Given the description of an element on the screen output the (x, y) to click on. 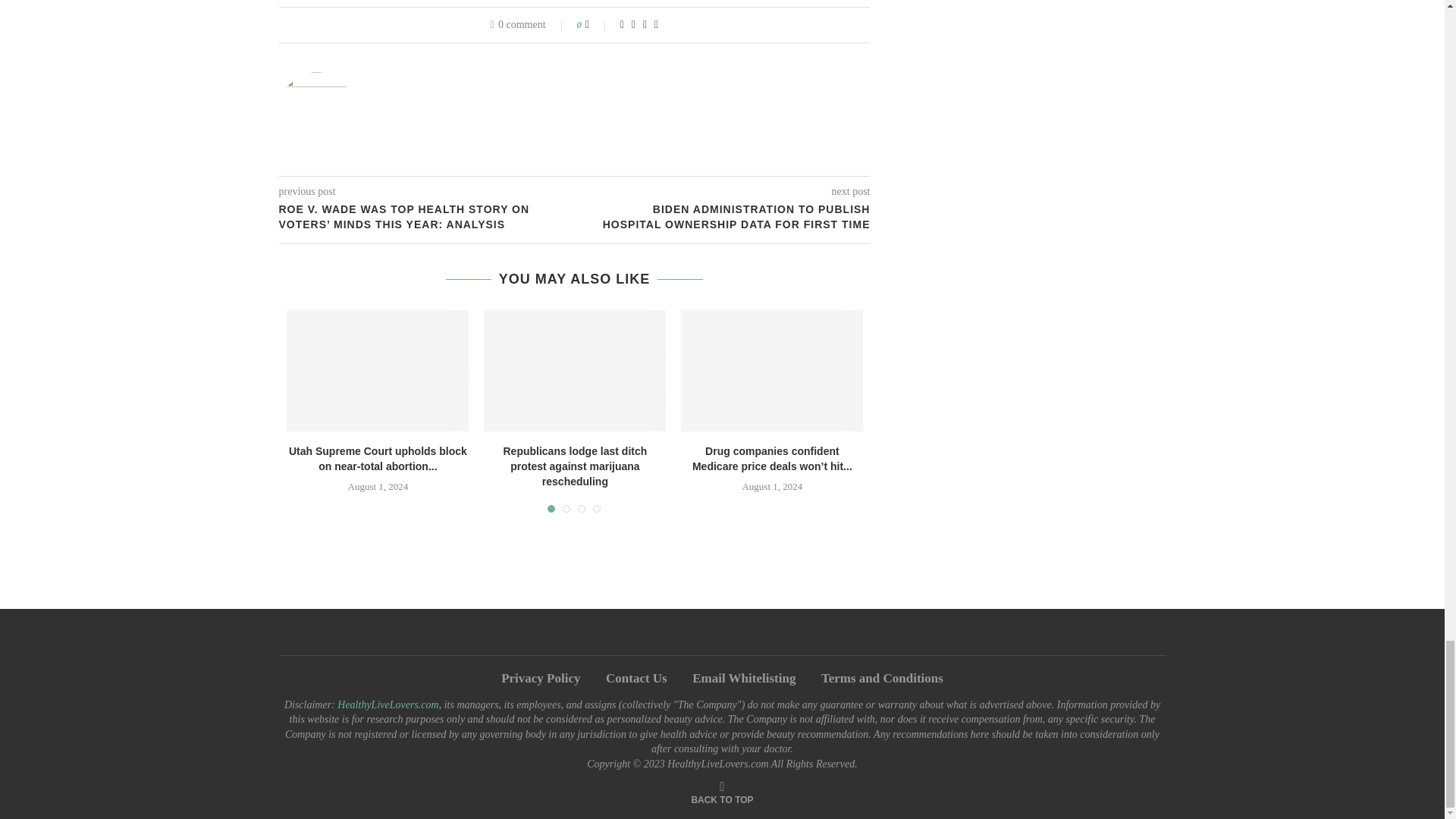
Utah Supreme Court upholds block on near-total abortion... (377, 458)
Like (597, 24)
Utah Supreme Court upholds block on near-total abortion ban (377, 370)
